Given the description of an element on the screen output the (x, y) to click on. 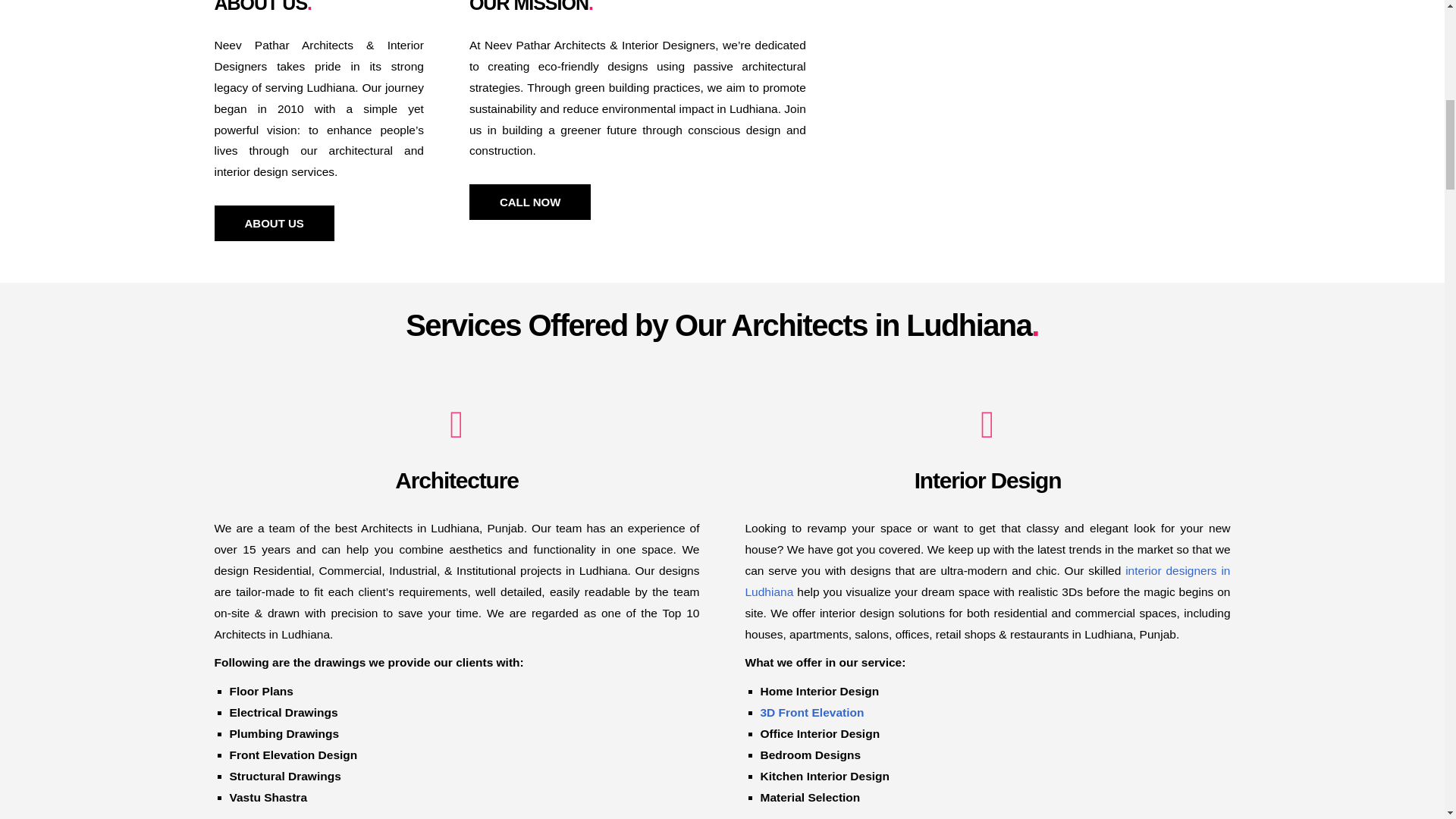
CALL NOW (529, 202)
3D Front Elevation (811, 712)
interior designers in Ludhiana (987, 581)
ABOUT US (273, 222)
